Given the description of an element on the screen output the (x, y) to click on. 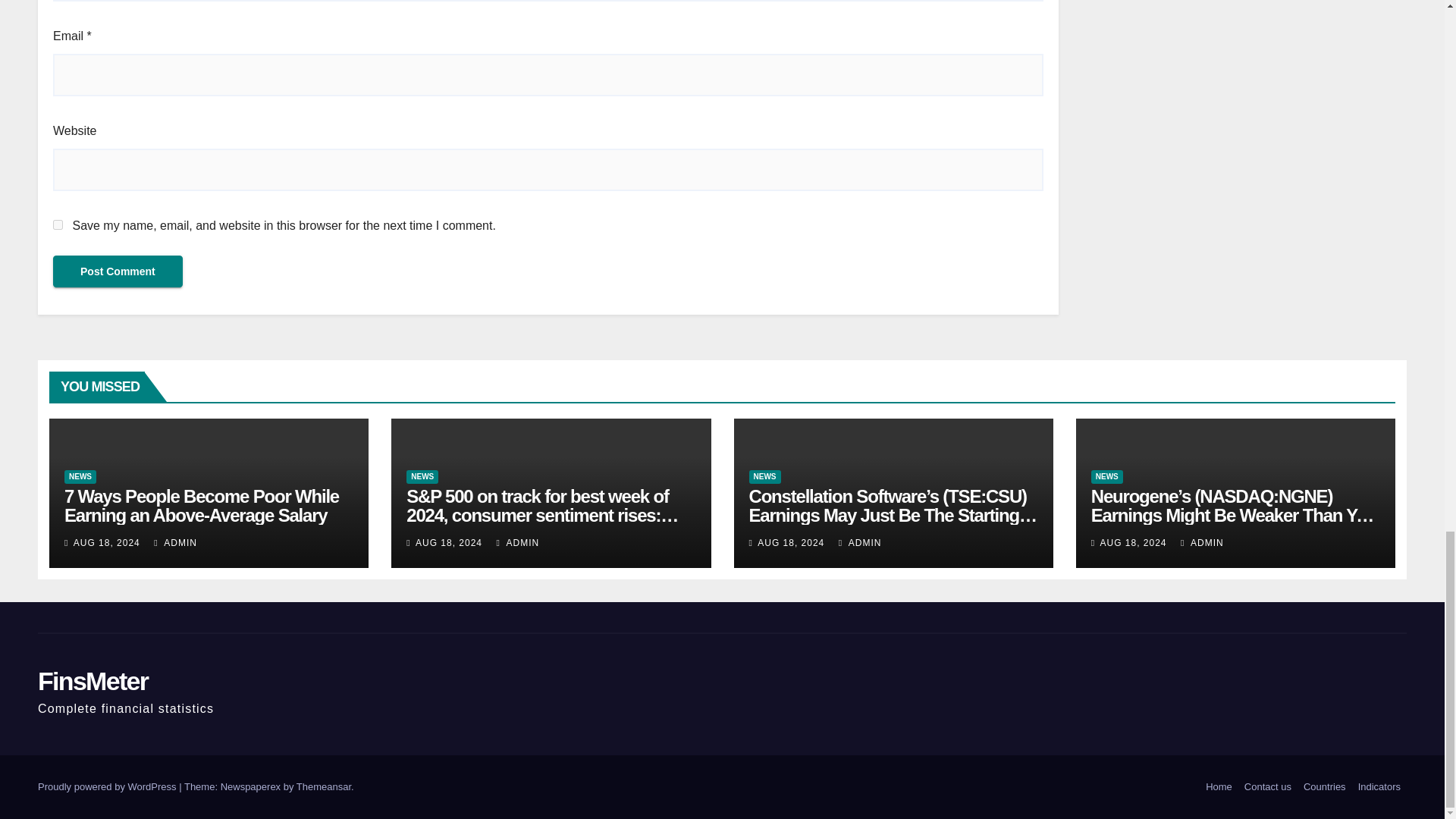
Post Comment (117, 271)
yes (57, 225)
